Given the description of an element on the screen output the (x, y) to click on. 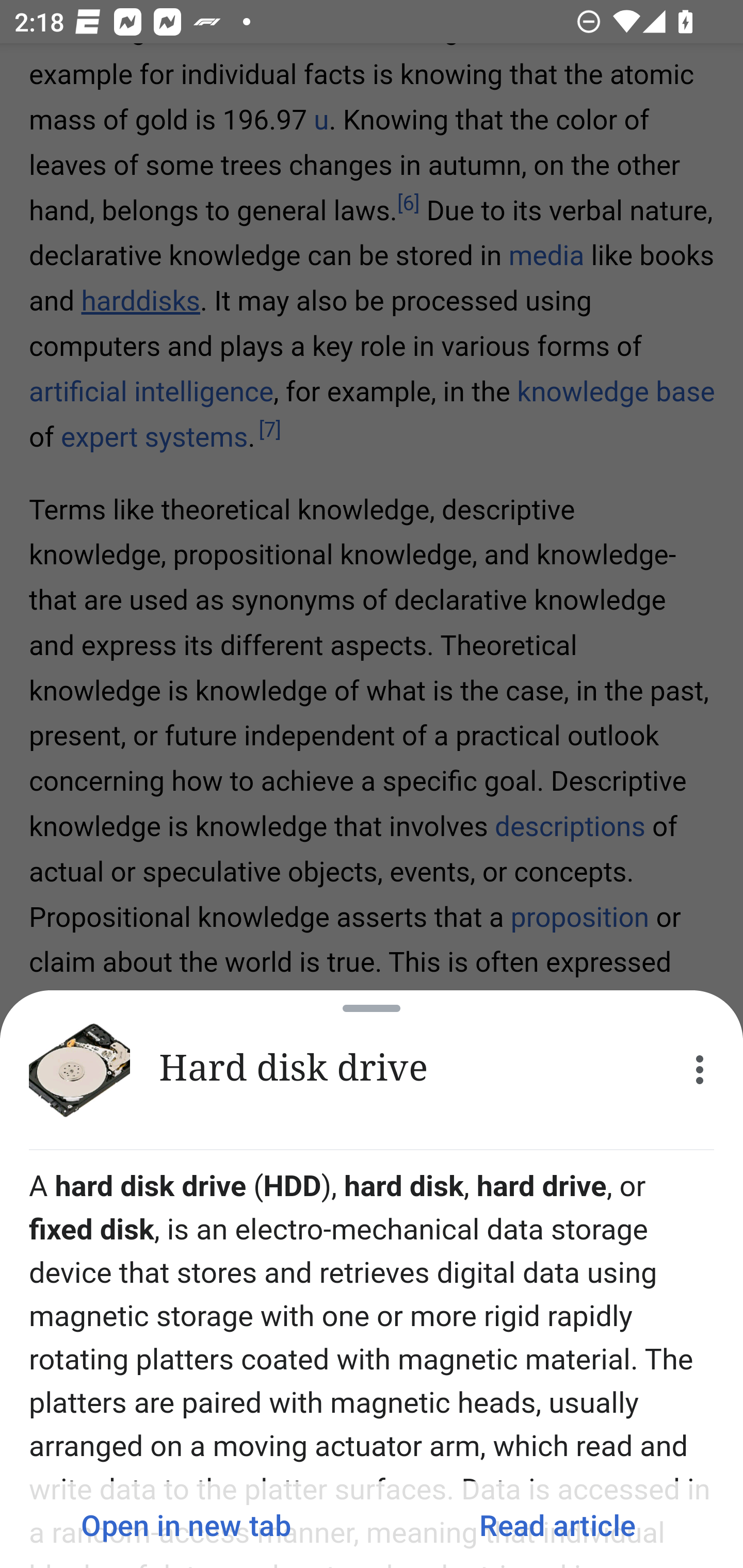
Hard disk drive More options (371, 1069)
More options (699, 1070)
Open in new tab (185, 1524)
Read article (557, 1524)
